Given the description of an element on the screen output the (x, y) to click on. 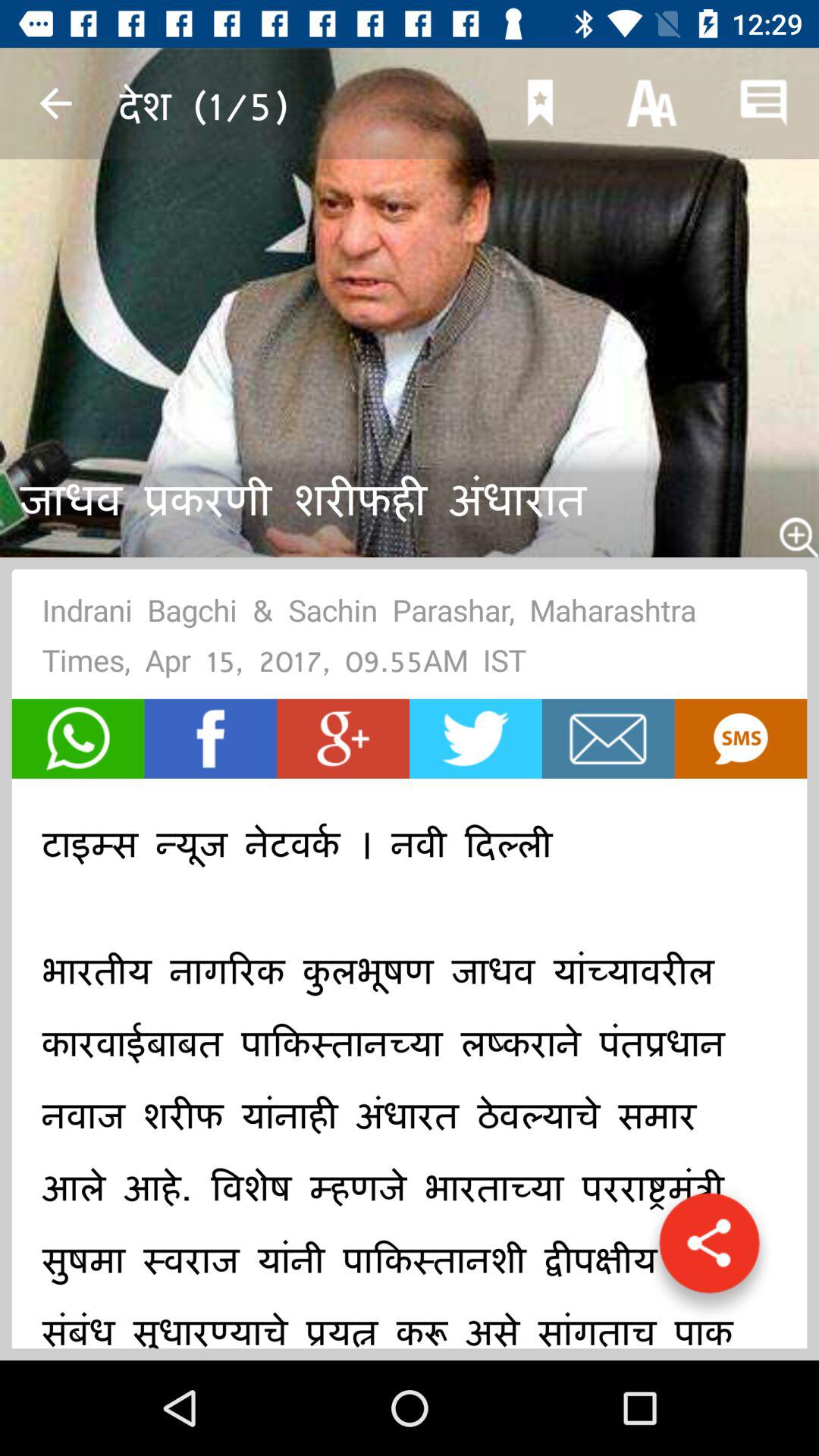
google plus sign in button (342, 738)
